Given the description of an element on the screen output the (x, y) to click on. 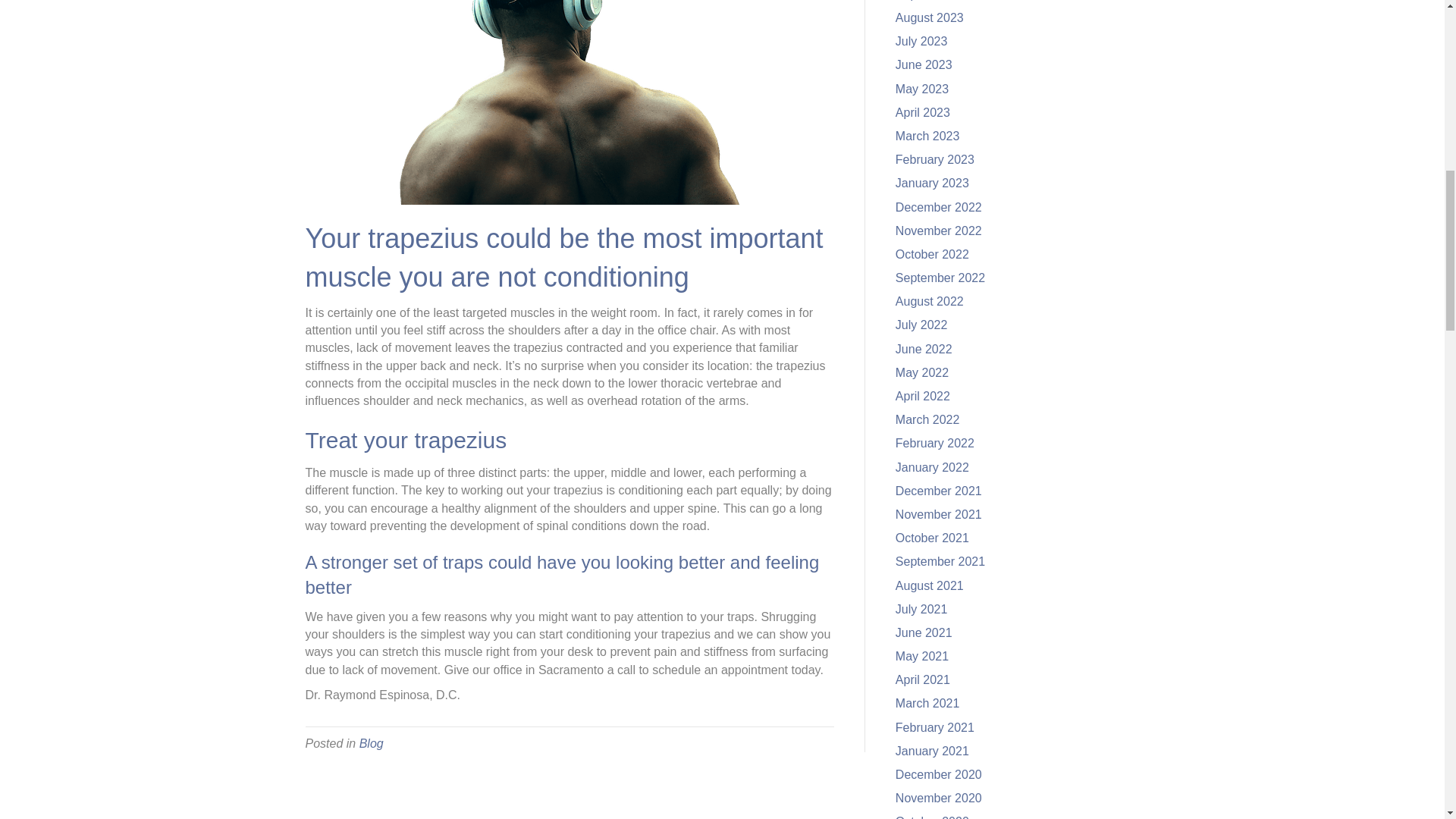
Blog (371, 743)
August 2023 (929, 17)
